Given the description of an element on the screen output the (x, y) to click on. 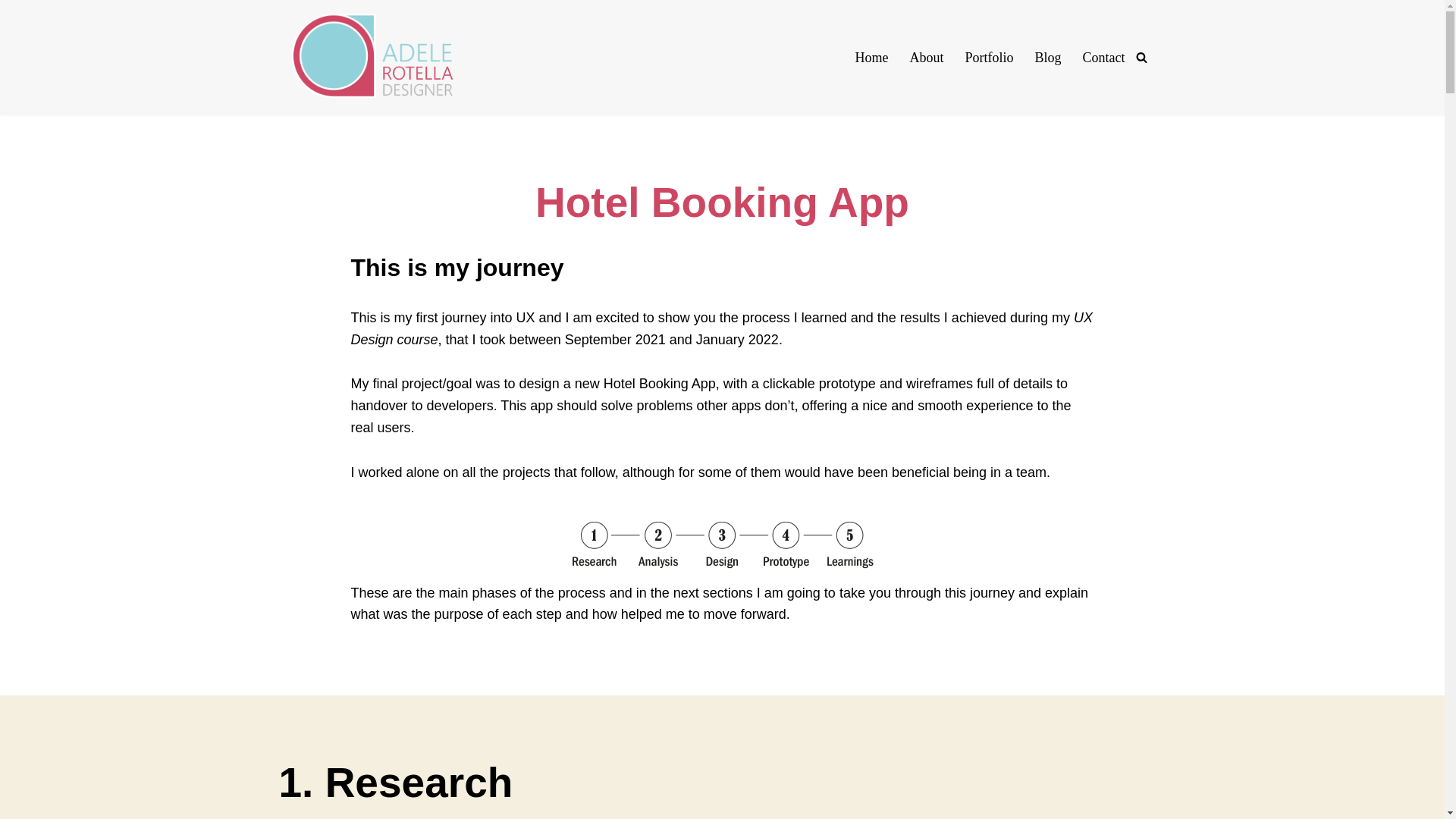
Portfolio (988, 56)
Vai al contenuto (11, 31)
Home (871, 56)
Blog (1047, 56)
Contact (1104, 56)
About (925, 56)
